Given the description of an element on the screen output the (x, y) to click on. 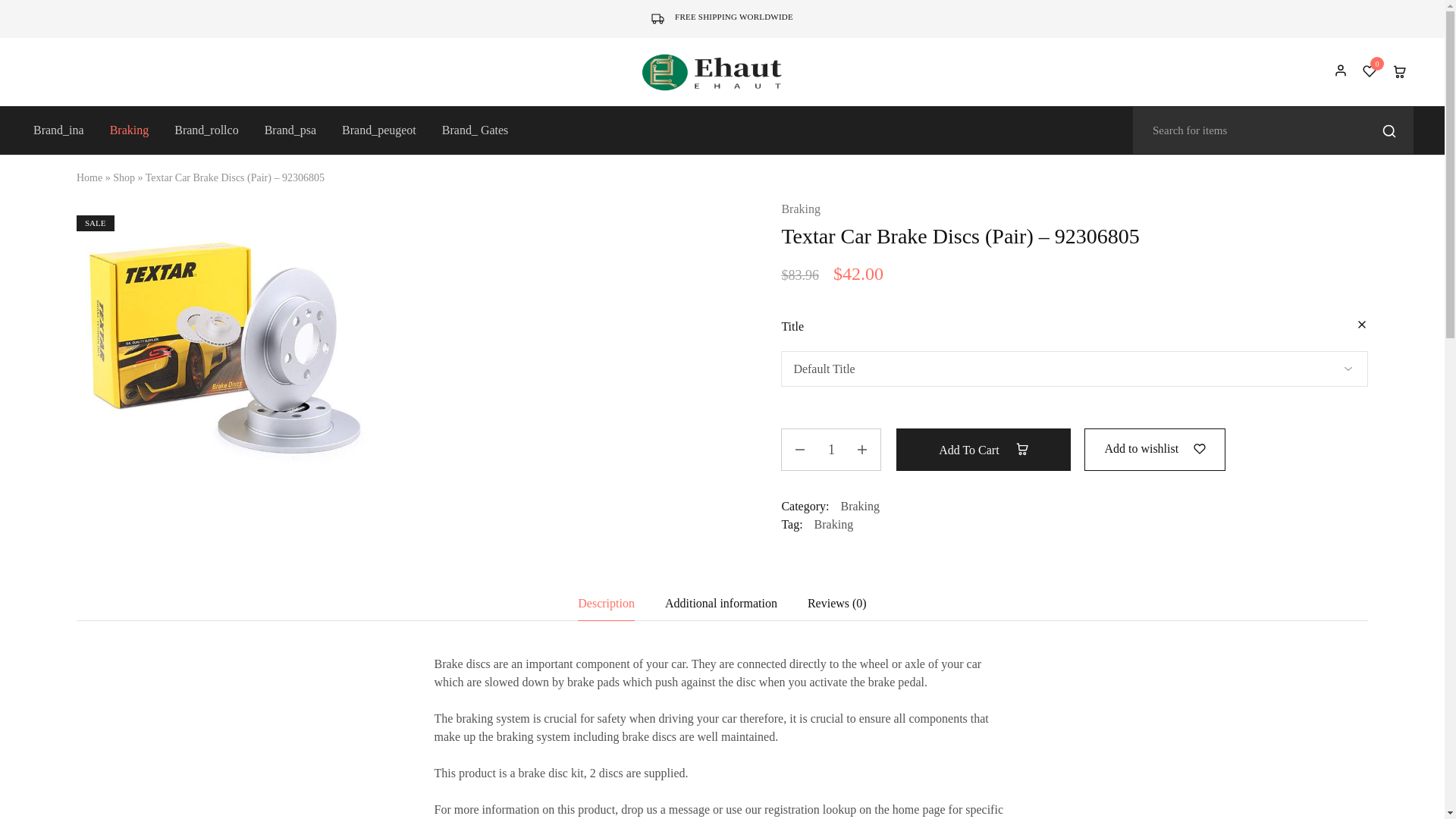
Braking (859, 505)
Description (606, 603)
1 (831, 449)
Braking (129, 130)
0 (1368, 71)
Add To Cart (983, 449)
Shop (124, 177)
Add to wishlist (1154, 448)
Additional information (721, 603)
Qty (831, 449)
Braking (800, 208)
Braking (833, 523)
Home (89, 177)
